Given the description of an element on the screen output the (x, y) to click on. 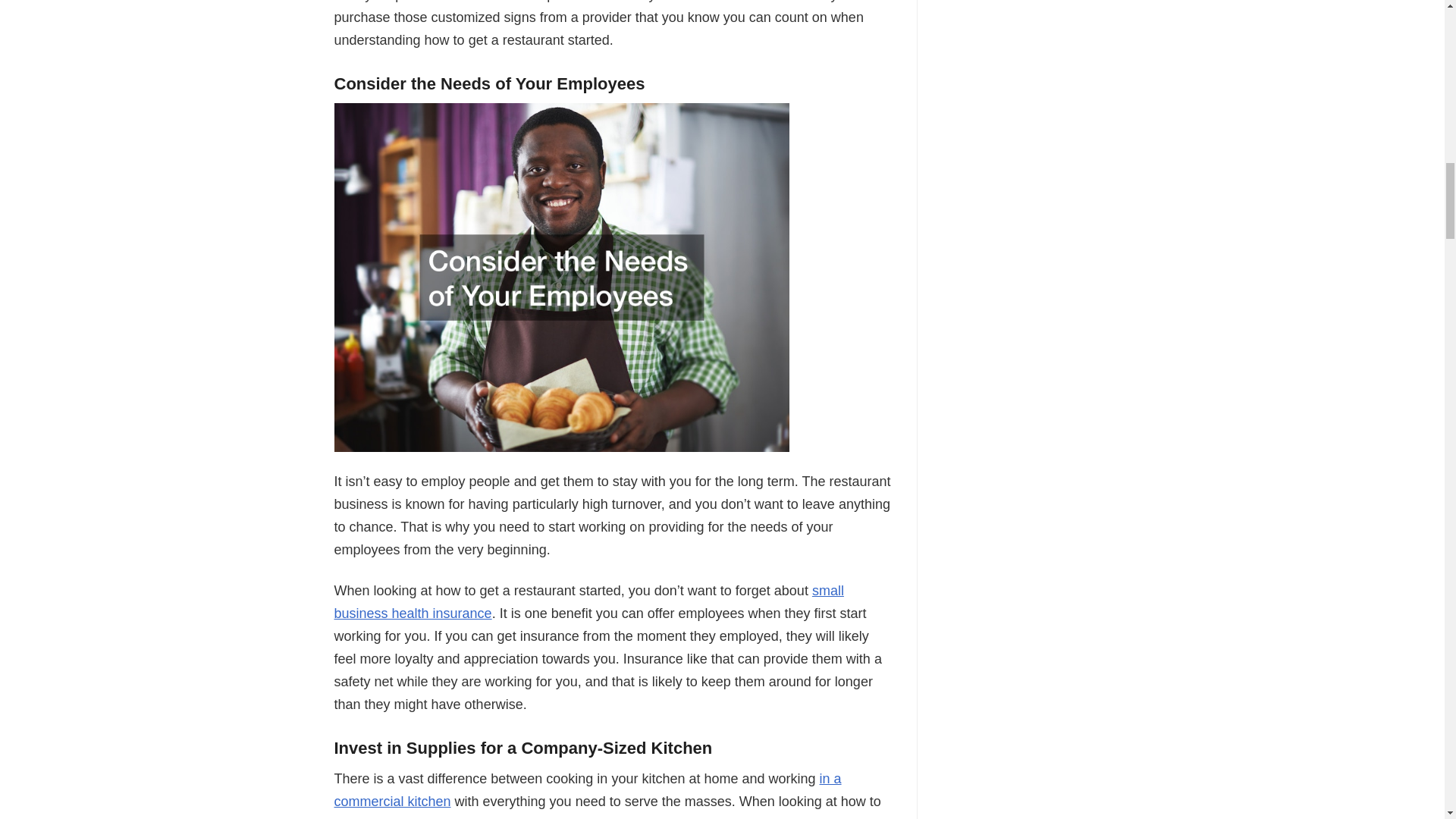
small business health insurance (588, 601)
in a commercial kitchen (587, 790)
